Given the description of an element on the screen output the (x, y) to click on. 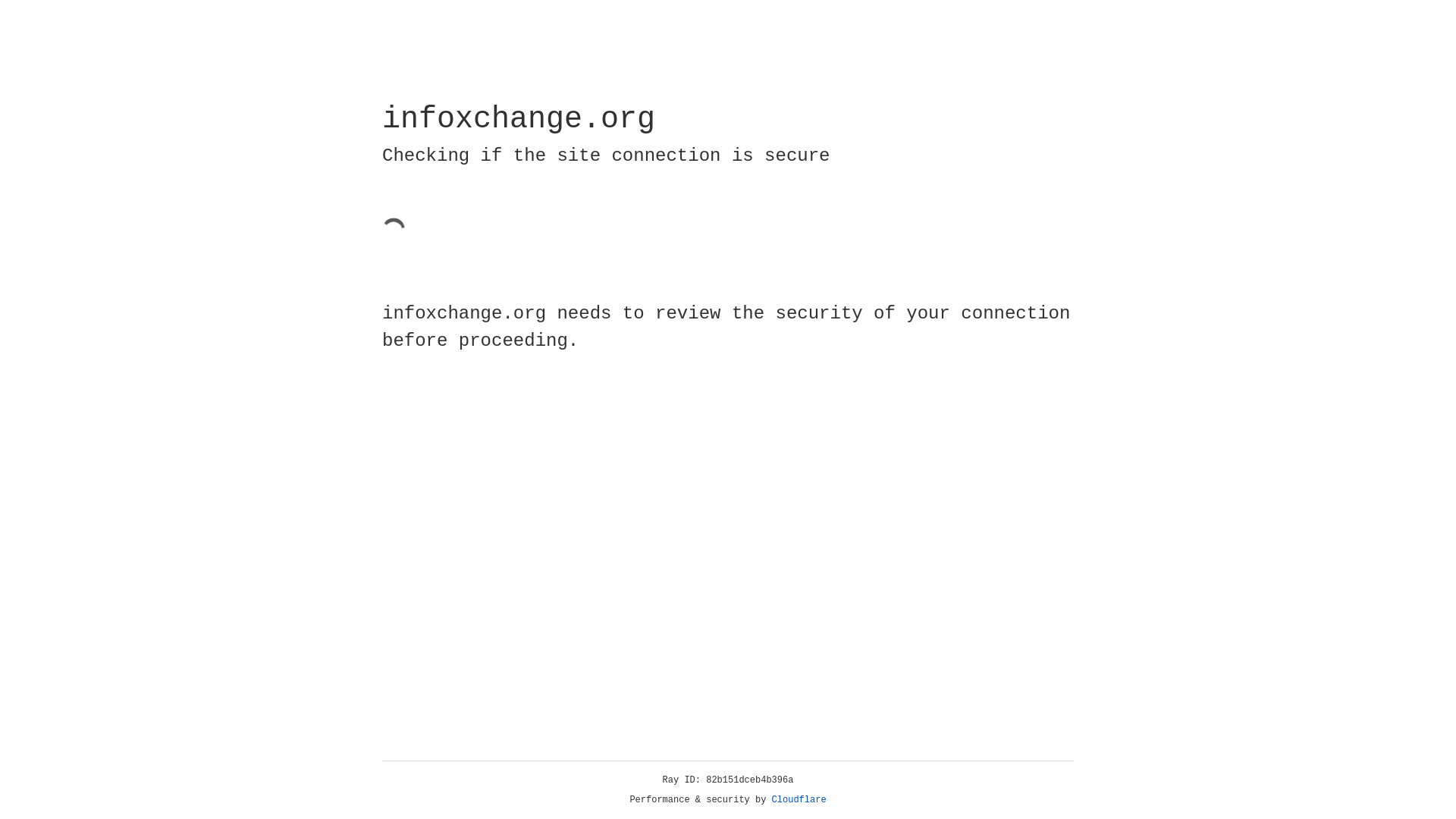
Cloudflare Element type: text (798, 799)
